Given the description of an element on the screen output the (x, y) to click on. 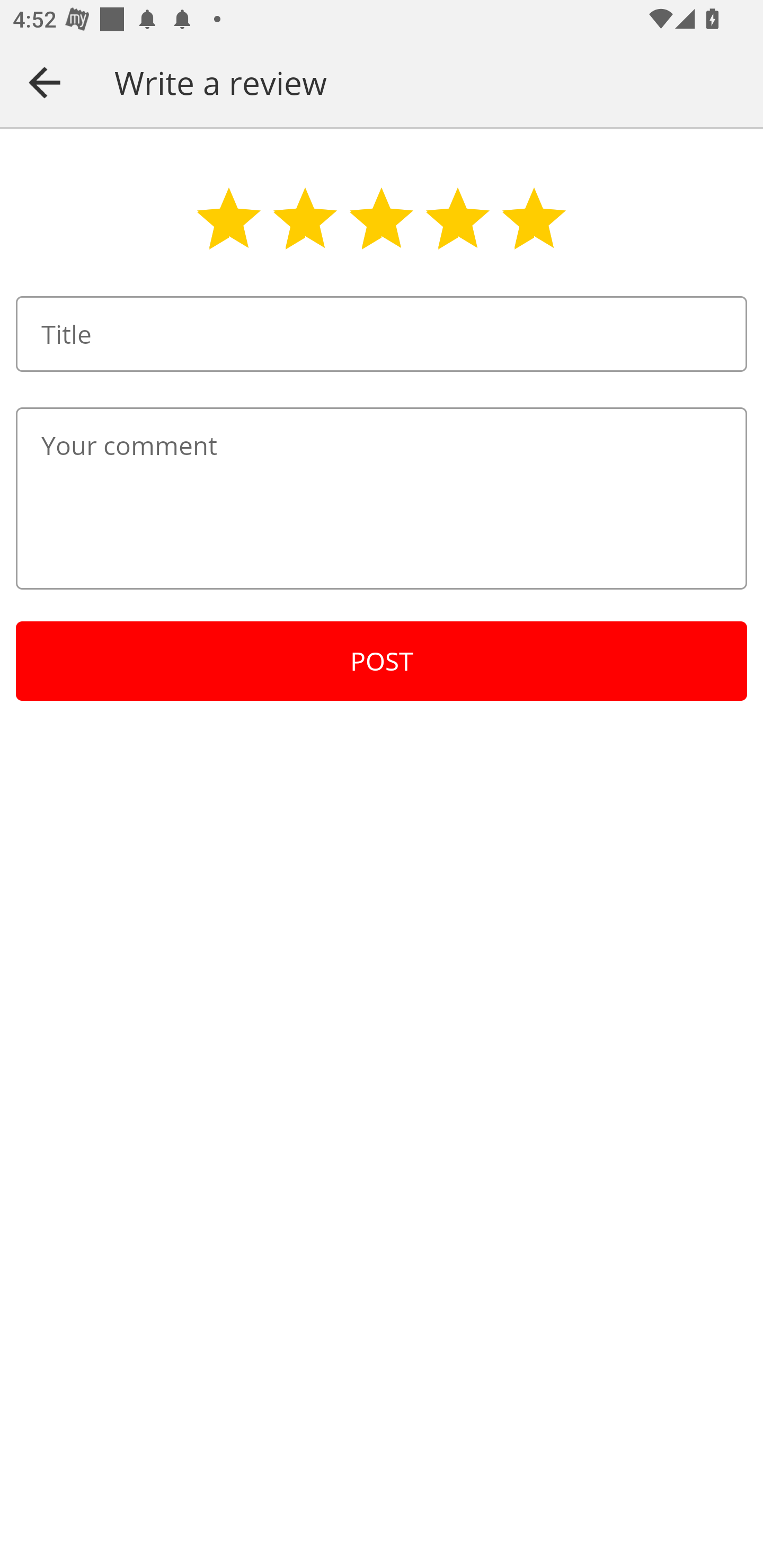
Navigate up (44, 82)
Title (381, 333)
Your comment (381, 498)
POST (381, 660)
